Given the description of an element on the screen output the (x, y) to click on. 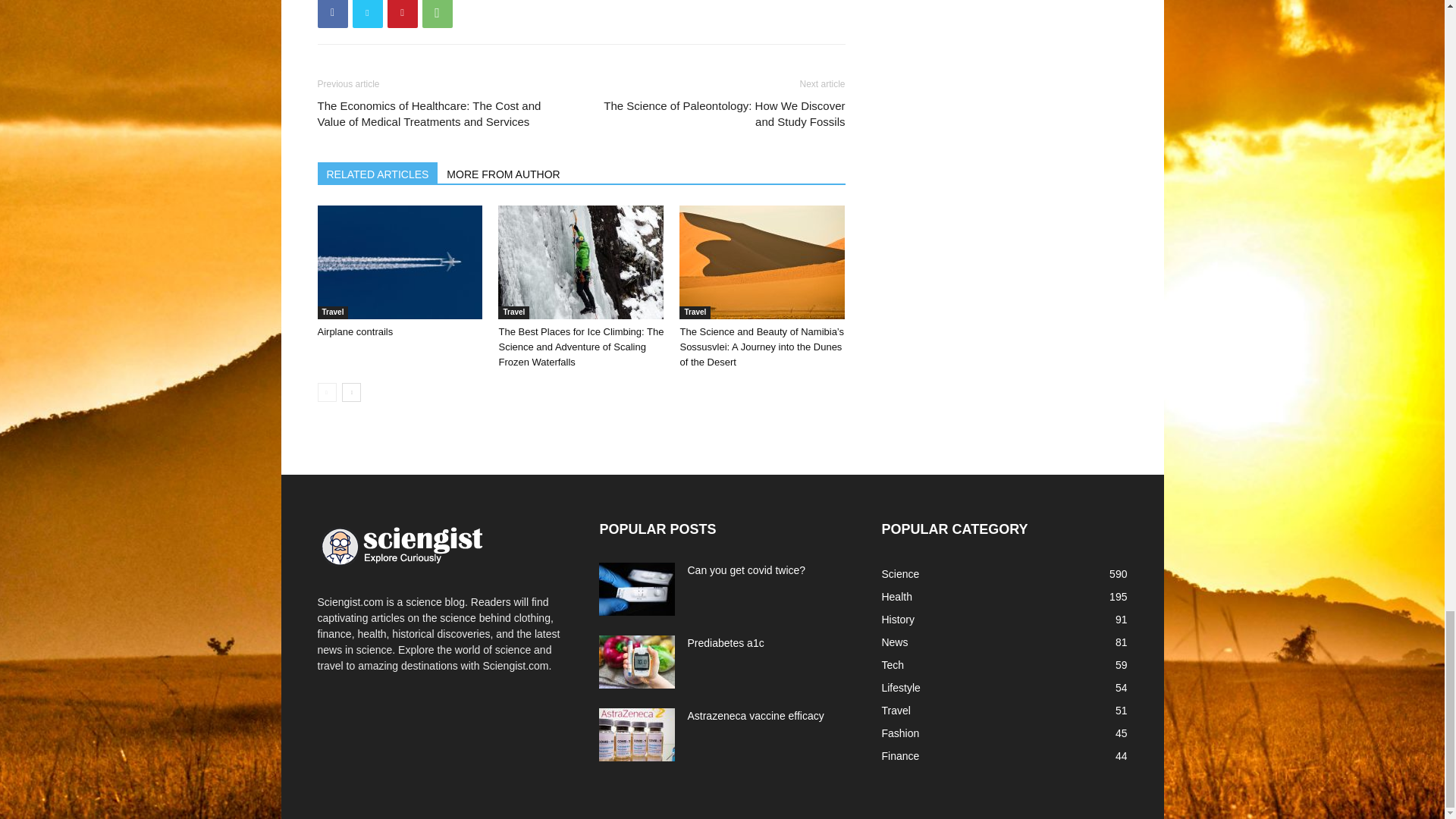
Facebook (332, 13)
